Given the description of an element on the screen output the (x, y) to click on. 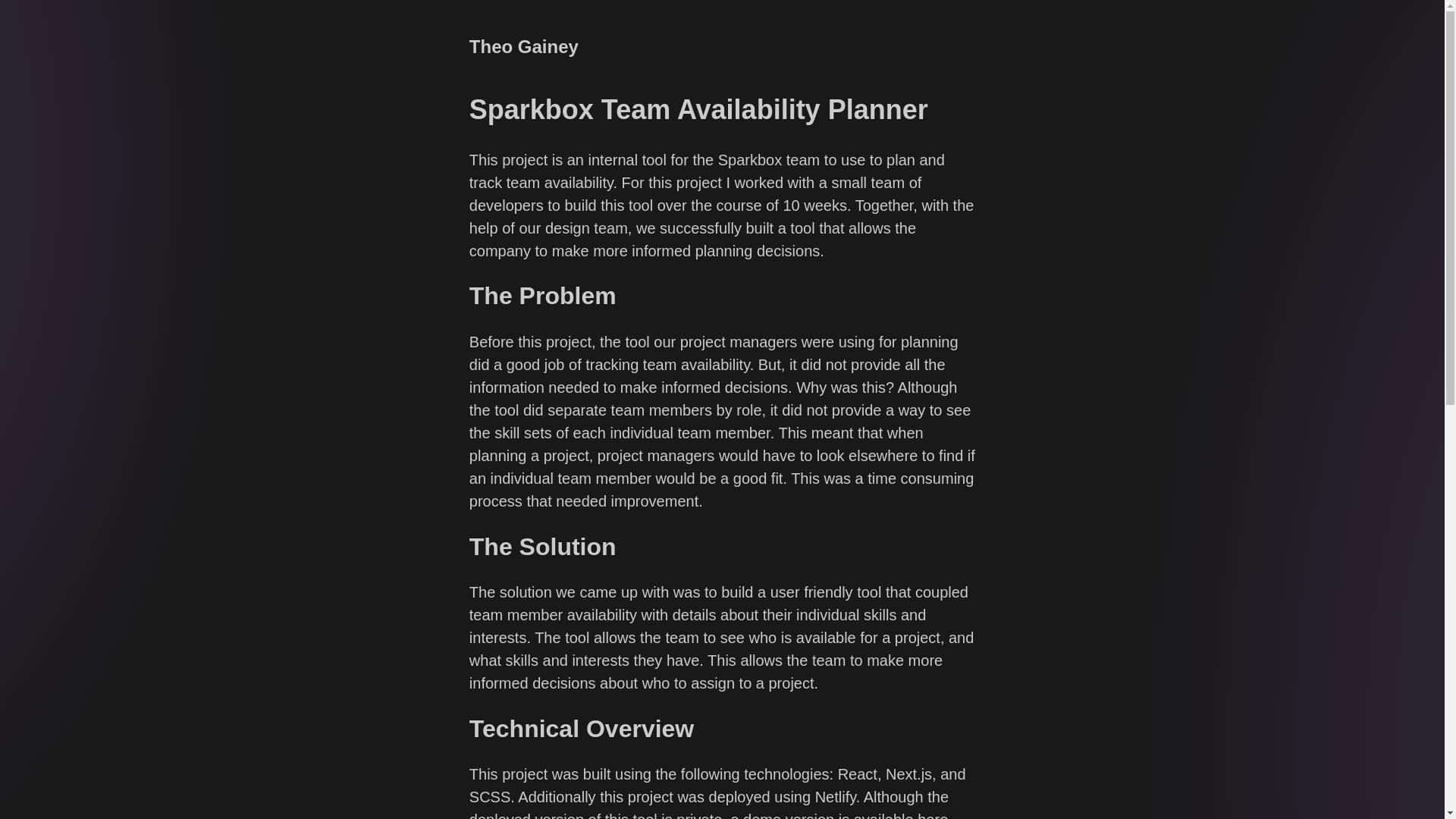
Theo Gainey (523, 46)
Netlify (835, 796)
here (932, 815)
